Given the description of an element on the screen output the (x, y) to click on. 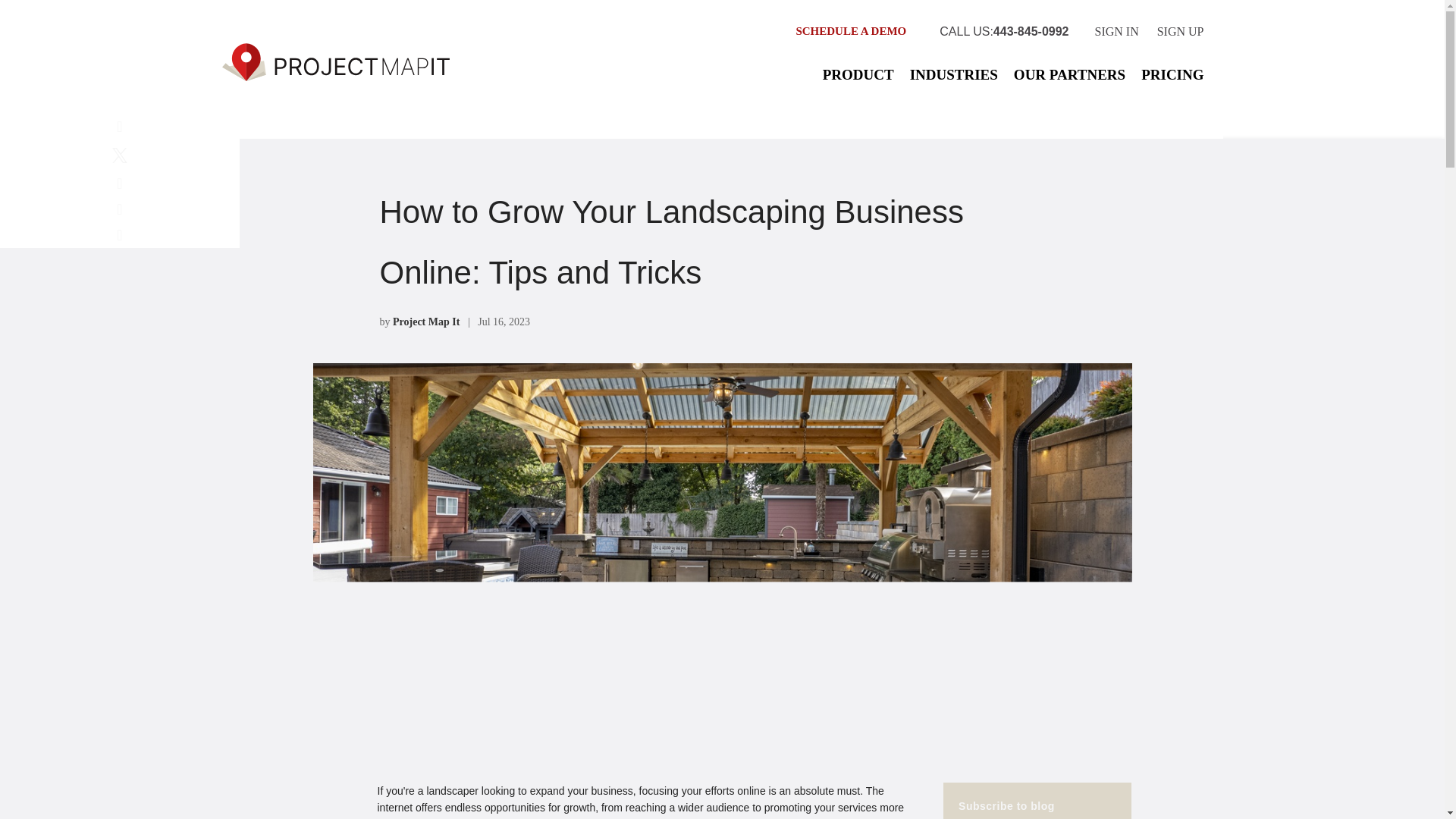
Share on X (118, 157)
PRICING (1172, 74)
SCHEDULE A DEMO (849, 35)
OUR PARTNERS (1069, 74)
CALL US:443-845-0992 (1003, 35)
PRODUCT (857, 74)
SIGN UP (1180, 35)
INDUSTRIES (953, 74)
Project Map It (426, 321)
SIGN IN (1116, 35)
